Given the description of an element on the screen output the (x, y) to click on. 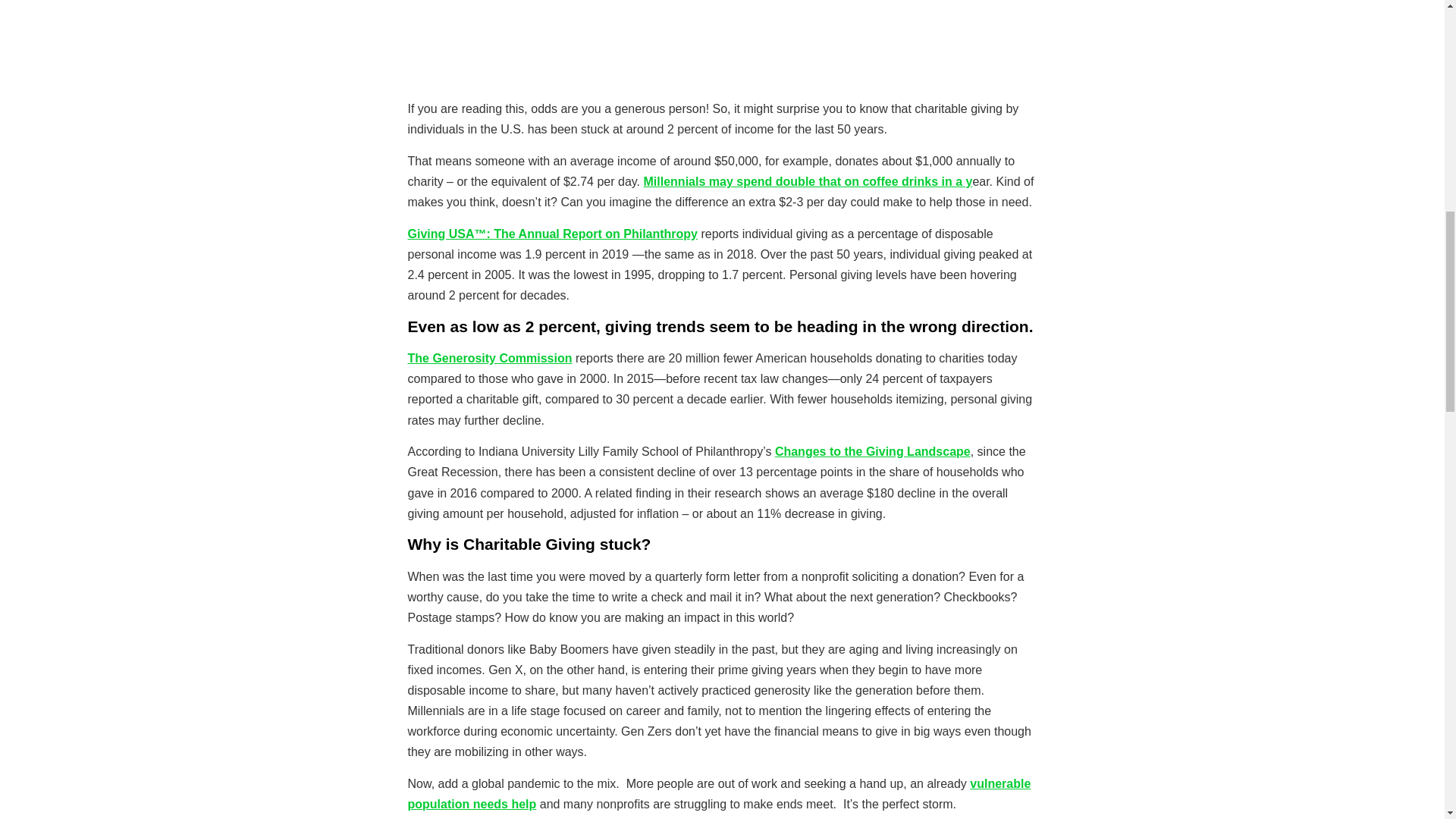
vulnerable population needs help (718, 793)
Millennials may spend double that on coffee drinks in a y (807, 181)
Changes to the Giving Landscape (872, 451)
The Generosity Commission (489, 358)
